Given the description of an element on the screen output the (x, y) to click on. 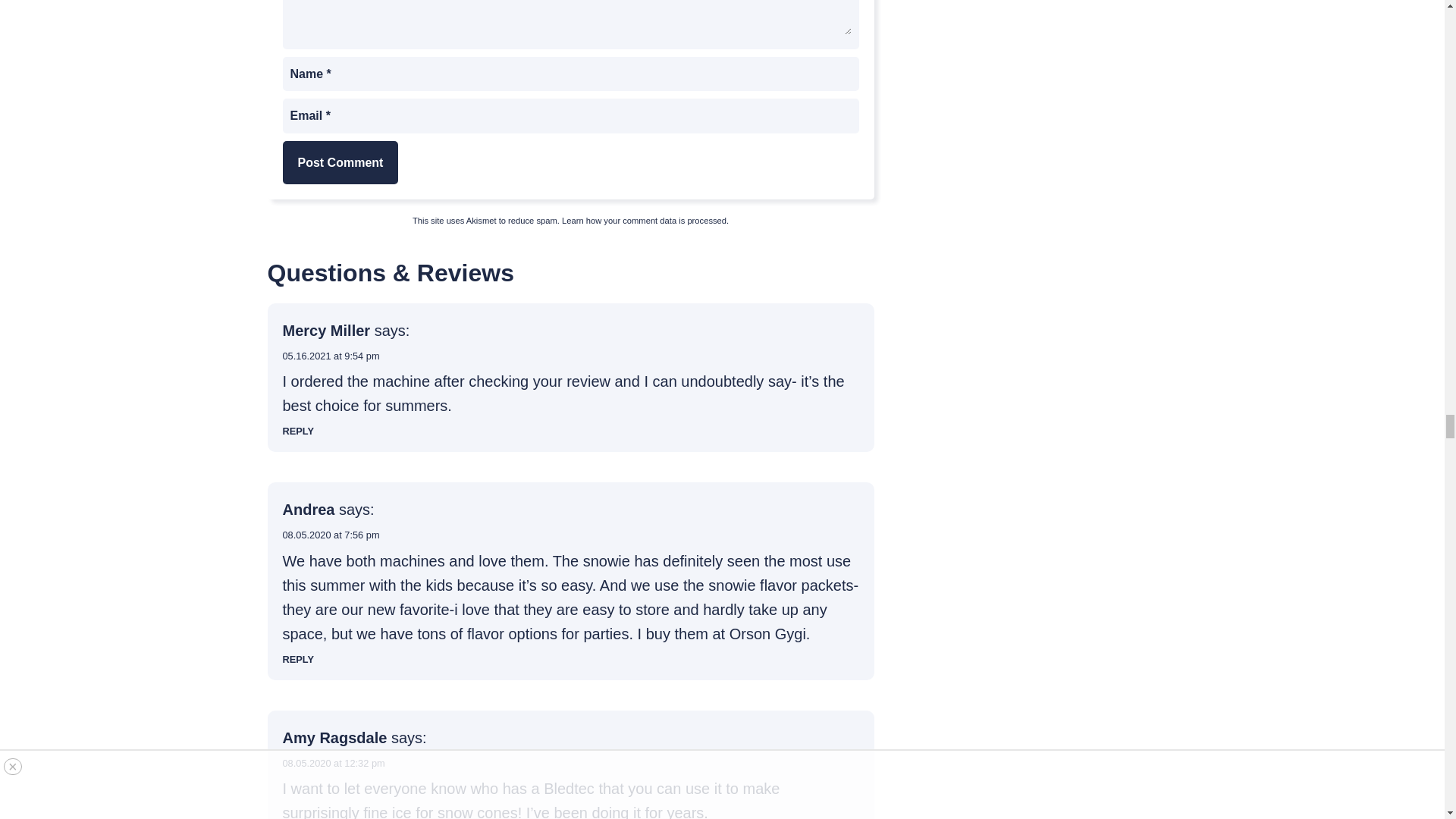
Post Comment (339, 162)
